Given the description of an element on the screen output the (x, y) to click on. 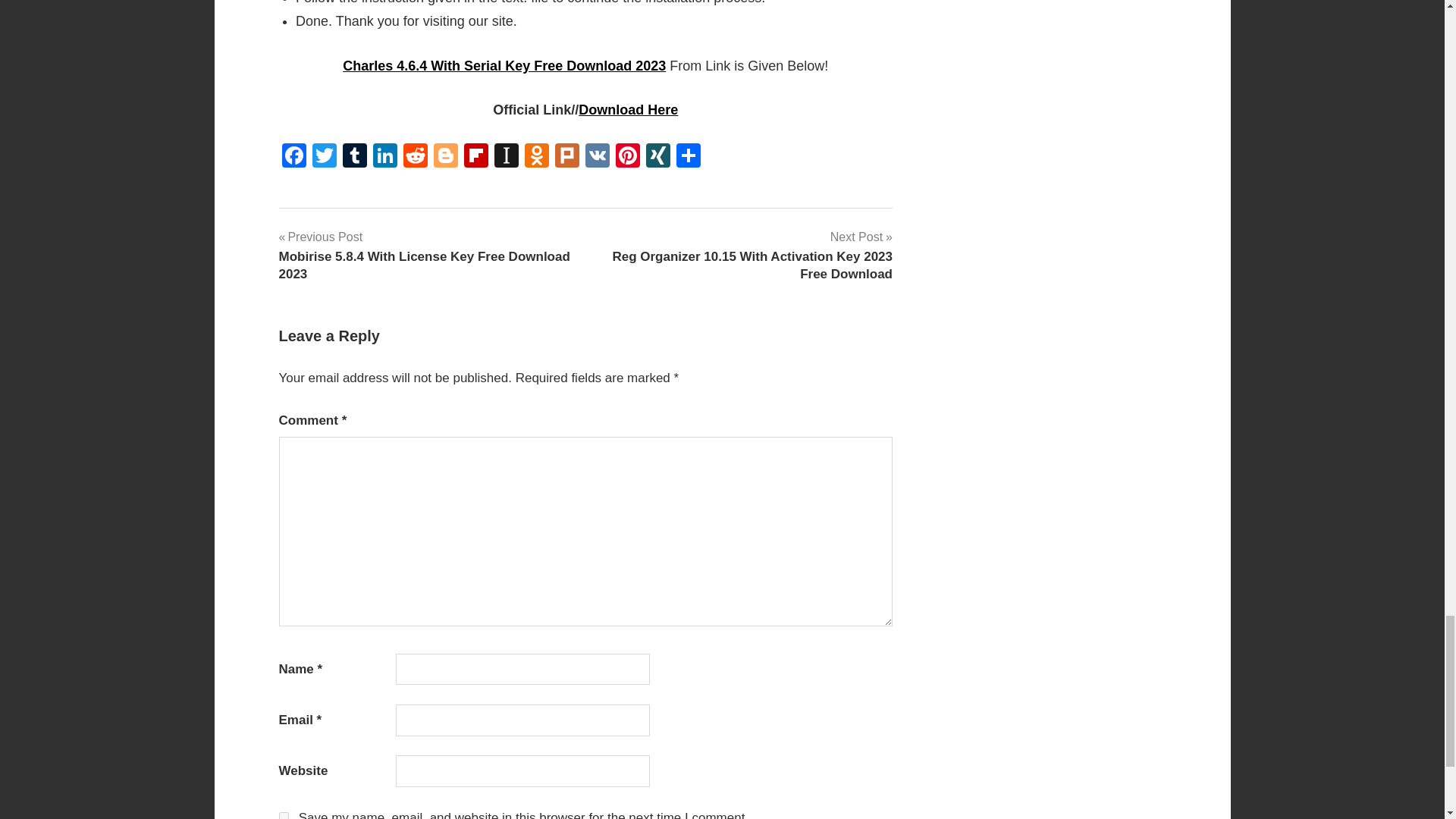
Blogger (445, 157)
Pinterest (627, 157)
Tumblr (354, 157)
Charles 4.6.4 With Serial Key Free Download 2023 (503, 65)
Reddit (415, 157)
Flipboard (476, 157)
XING (657, 157)
Tumblr (354, 157)
Download Here (628, 109)
Facebook (293, 157)
yes (283, 815)
LinkedIn (384, 157)
Odnoklassniki (536, 157)
Instapaper (506, 157)
Plurk (566, 157)
